Given the description of an element on the screen output the (x, y) to click on. 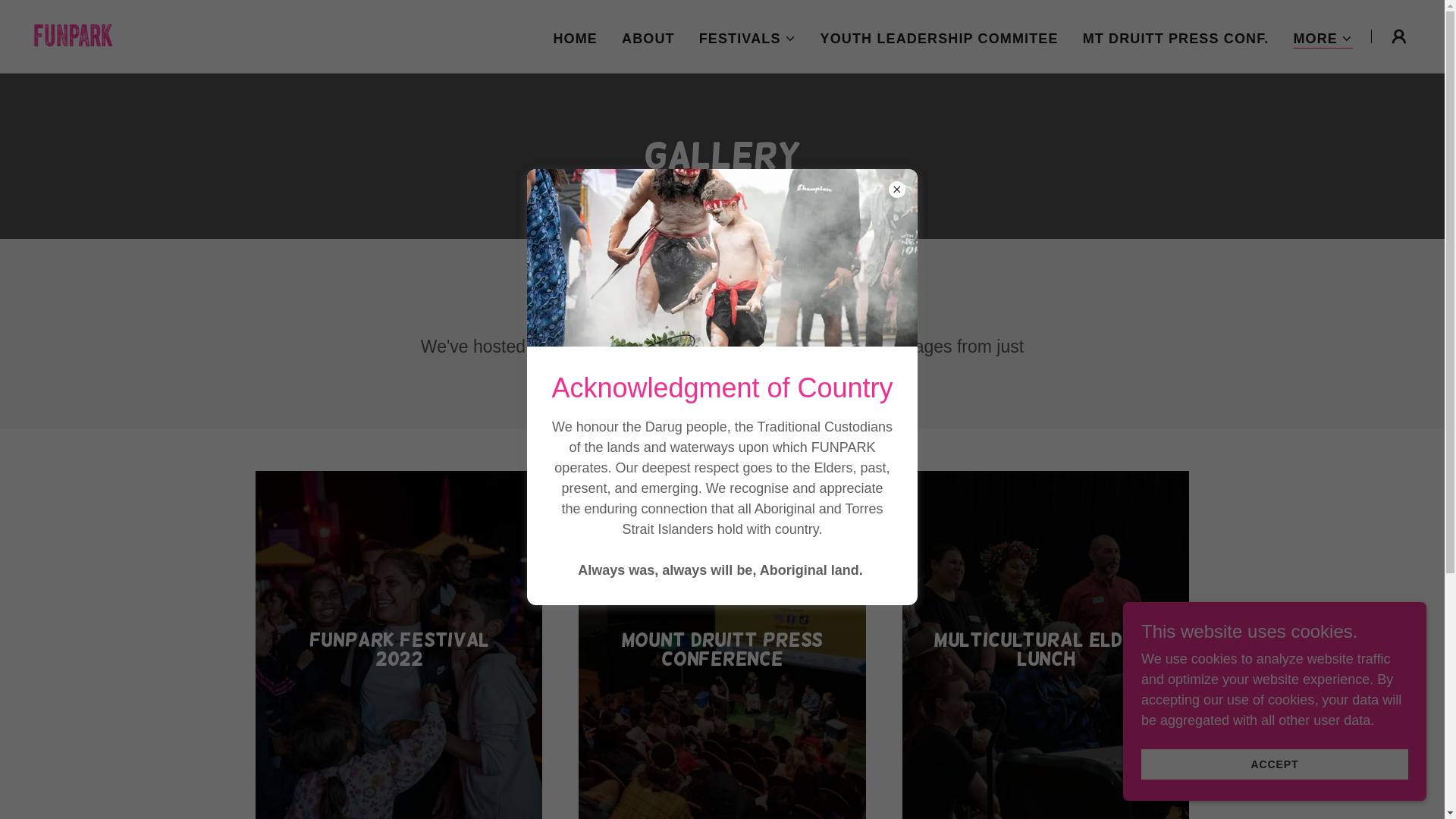
MT DRUITT PRESS CONF. Element type: text (1176, 37)
MORE Element type: text (1322, 37)
FESTIVALS Element type: text (747, 37)
YOUTH LEADERSHIP COMMITEE Element type: text (939, 37)
ACCEPT Element type: text (1274, 764)
ABOUT Element type: text (648, 37)
HOME Element type: text (575, 37)
